Given the description of an element on the screen output the (x, y) to click on. 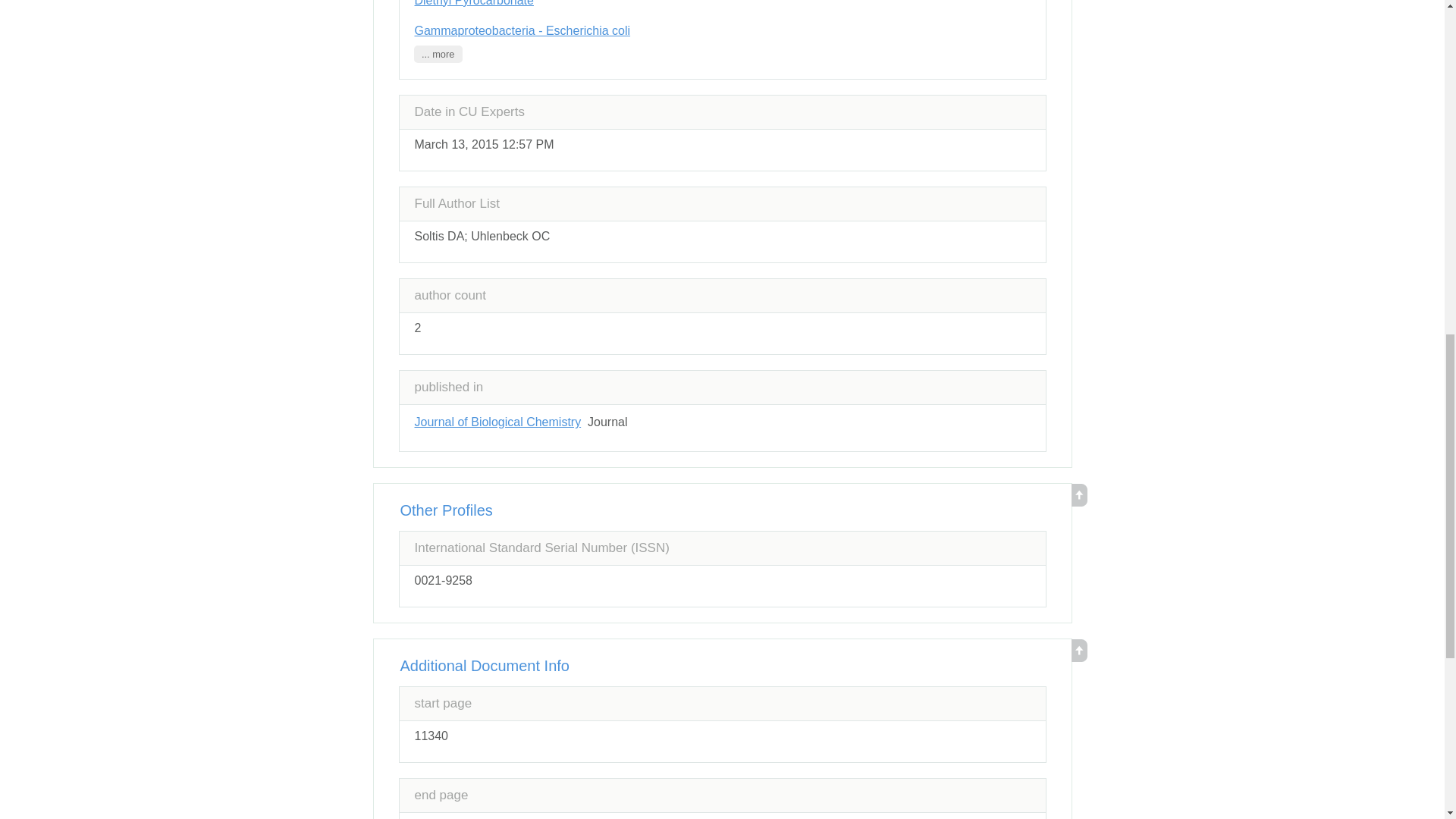
Diethyl Pyrocarbonate (472, 3)
... more (438, 54)
Journal of Biological Chemistry (496, 421)
Gammaproteobacteria - Escherichia coli (521, 30)
